Given the description of an element on the screen output the (x, y) to click on. 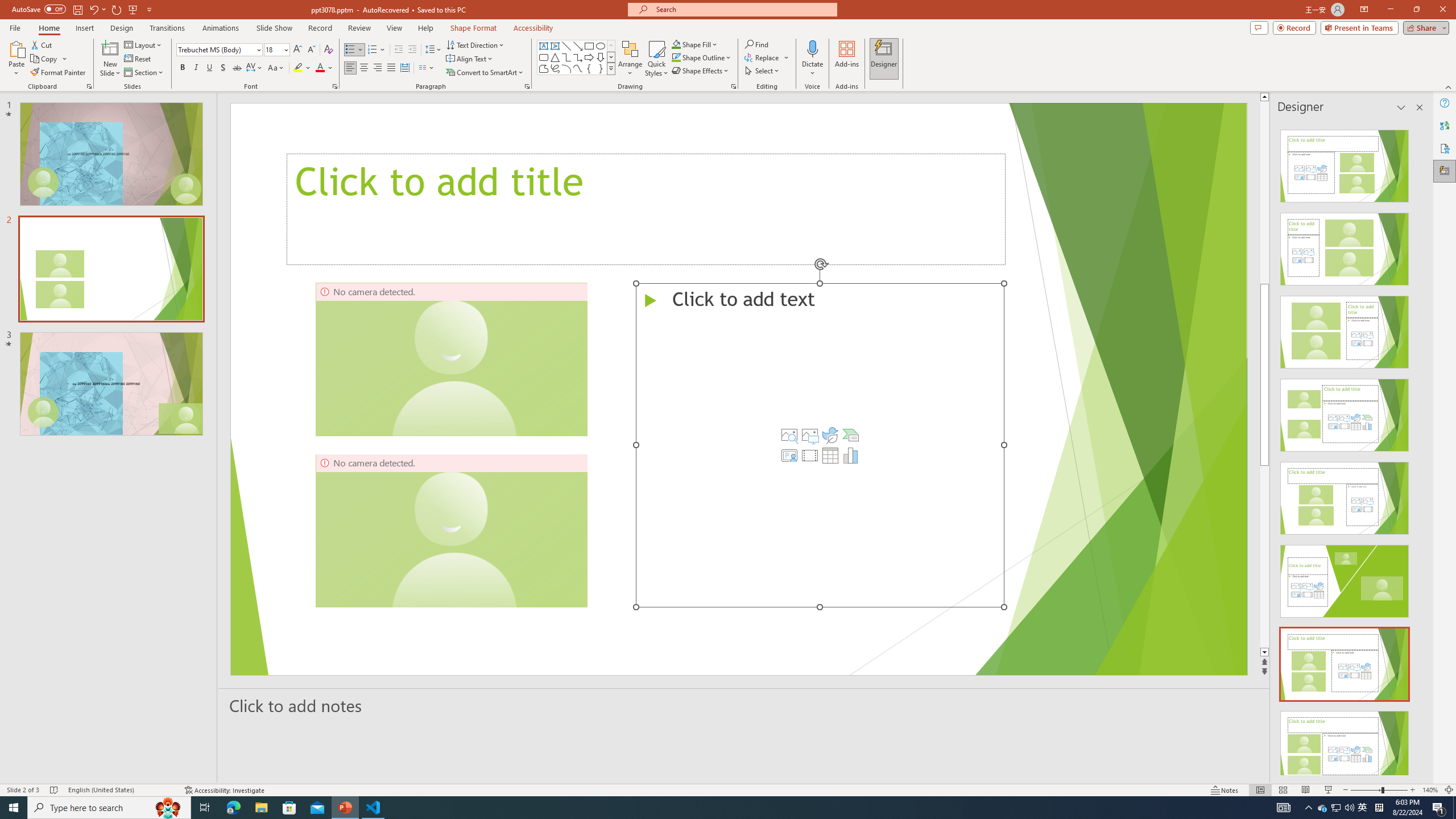
Zoom 140% (1430, 790)
